Given the description of an element on the screen output the (x, y) to click on. 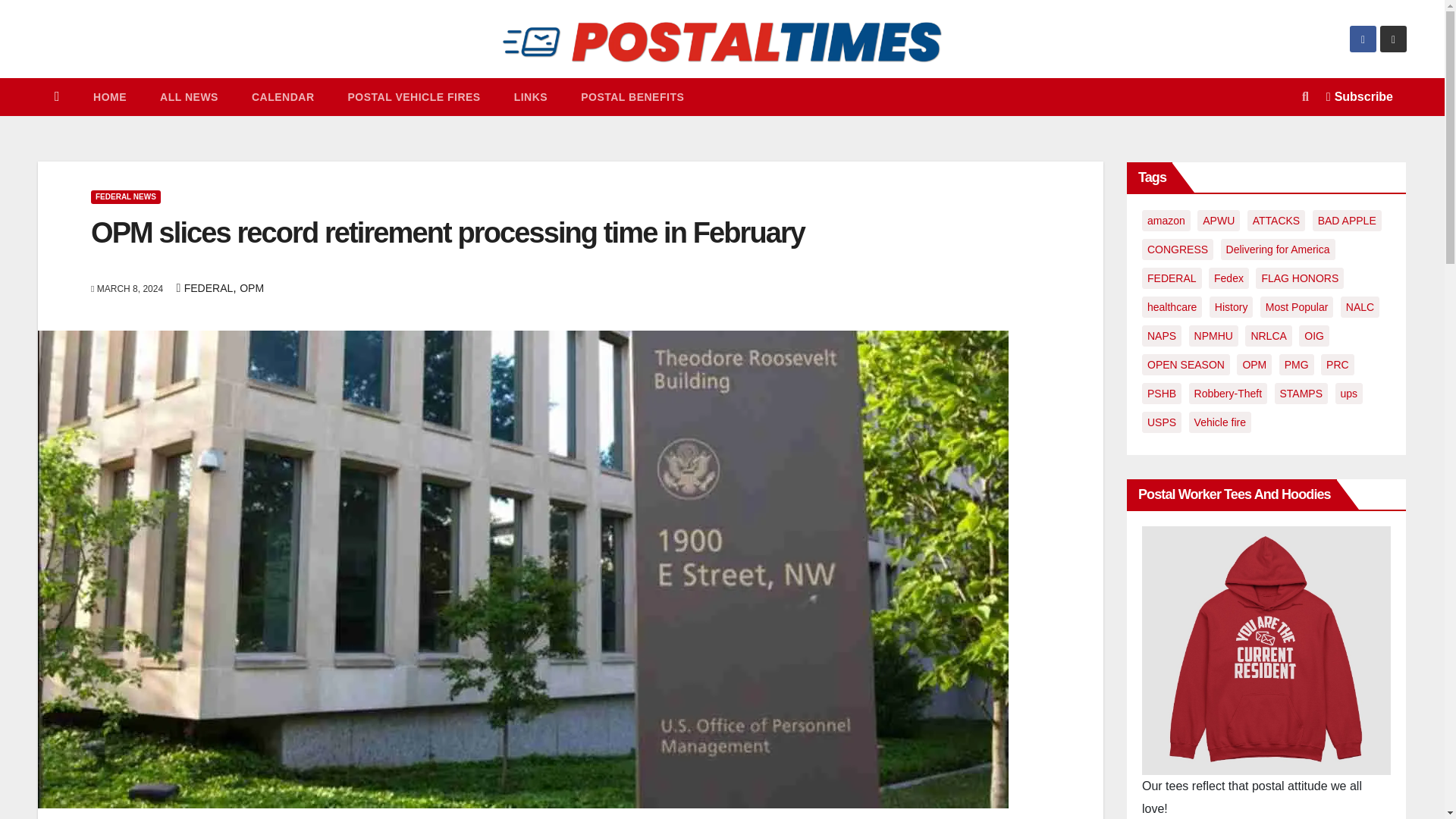
Postal Vehicle Fires (413, 96)
Links (530, 96)
ALL NEWS (188, 96)
POSTAL VEHICLE FIRES (413, 96)
Home (57, 96)
Subscribe (1359, 96)
FEDERAL (208, 287)
OPM (251, 287)
HOME (109, 96)
POSTAL BENEFITS (632, 96)
